Given the description of an element on the screen output the (x, y) to click on. 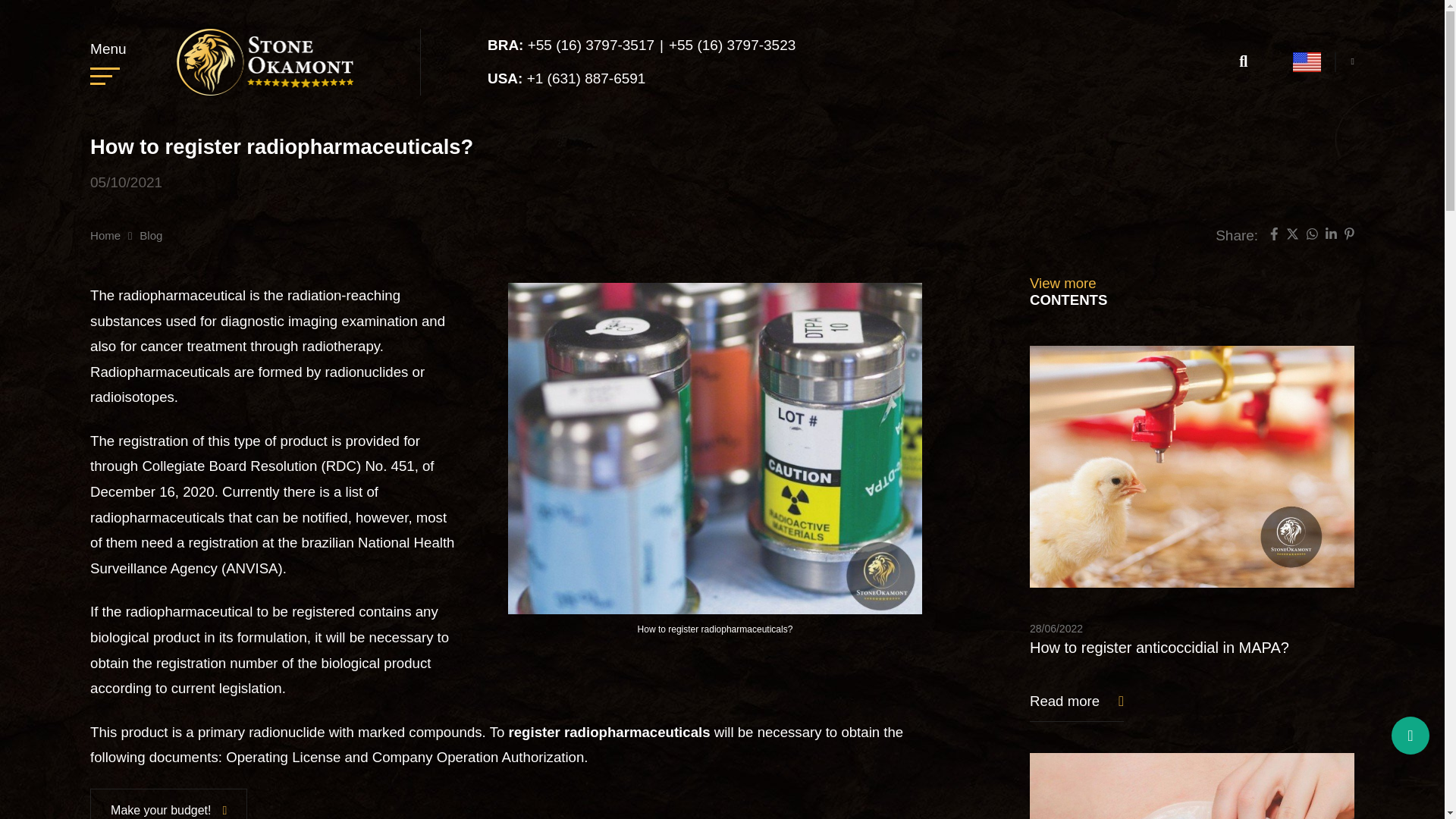
Compartilhar no Twitter  (1291, 236)
English Version (1306, 62)
Home (105, 235)
Menu (108, 61)
